Given the description of an element on the screen output the (x, y) to click on. 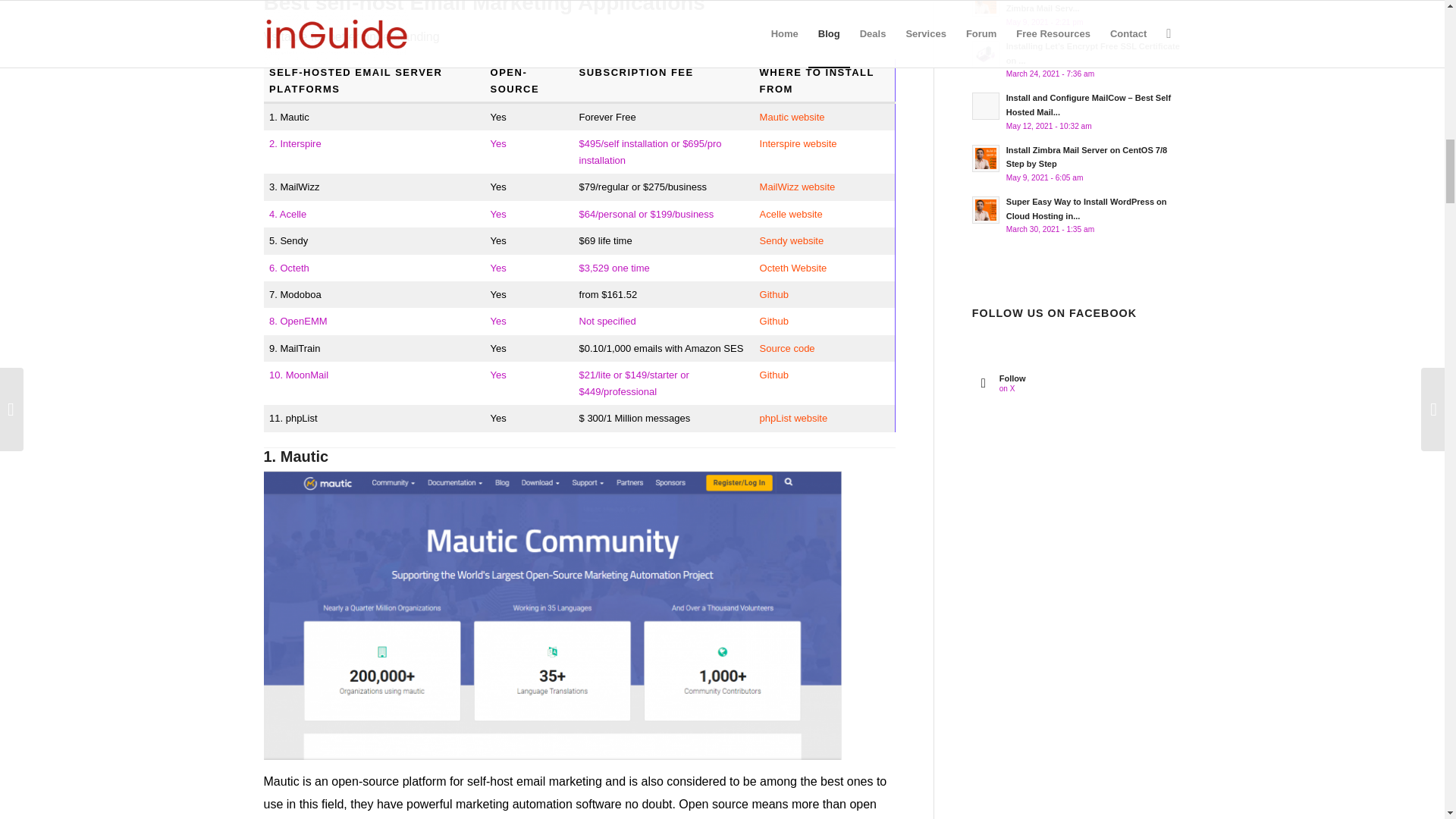
Github (774, 320)
Github (774, 374)
Acelle website (791, 214)
Octeth Website (793, 267)
MailWizz website (797, 186)
Interspire website (798, 143)
Source code (787, 348)
phpList website (794, 418)
Github (774, 294)
Sendy website (792, 240)
Mautic website (792, 116)
